Given the description of an element on the screen output the (x, y) to click on. 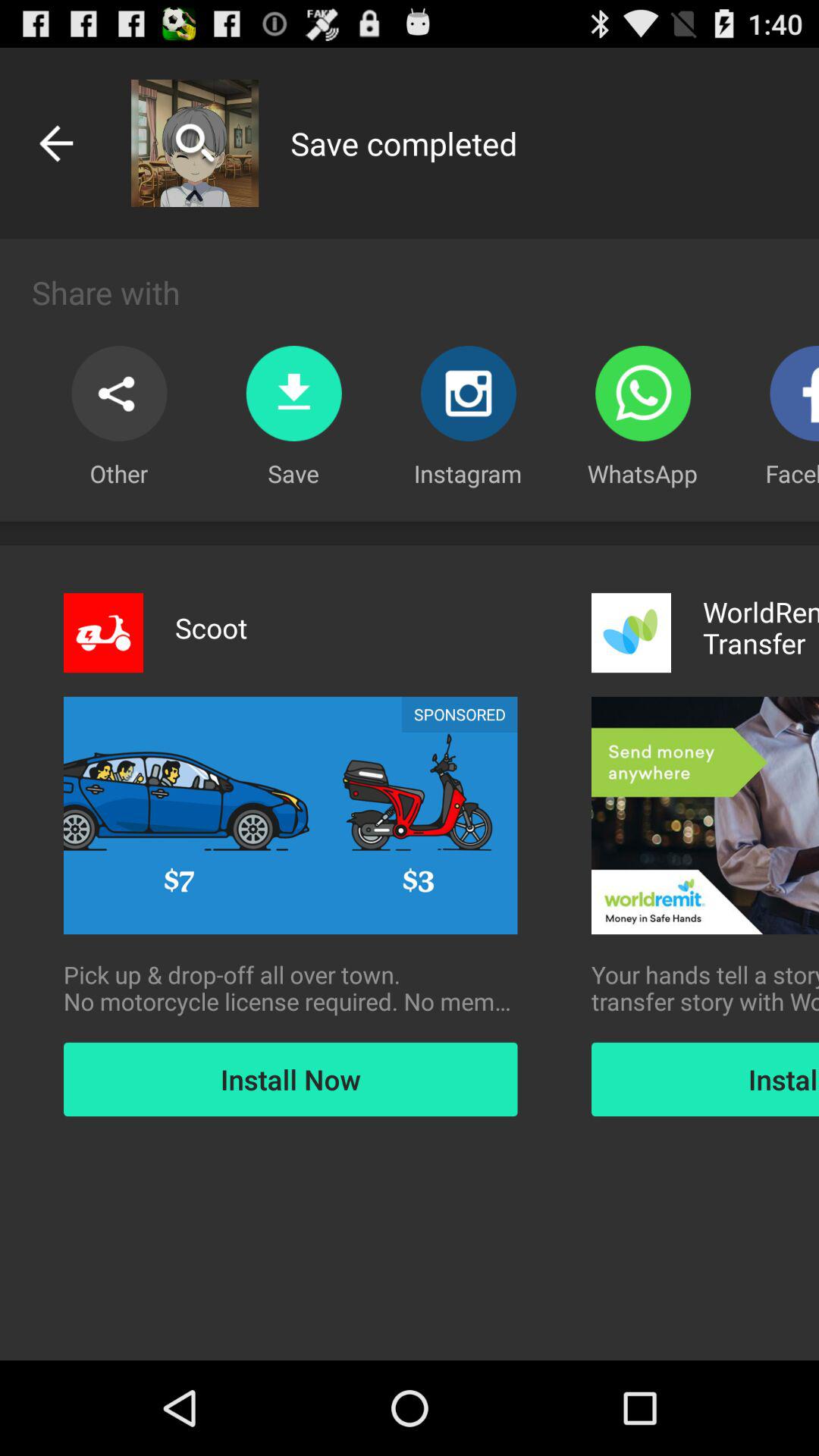
tap the app above the install now item (290, 988)
